Given the description of an element on the screen output the (x, y) to click on. 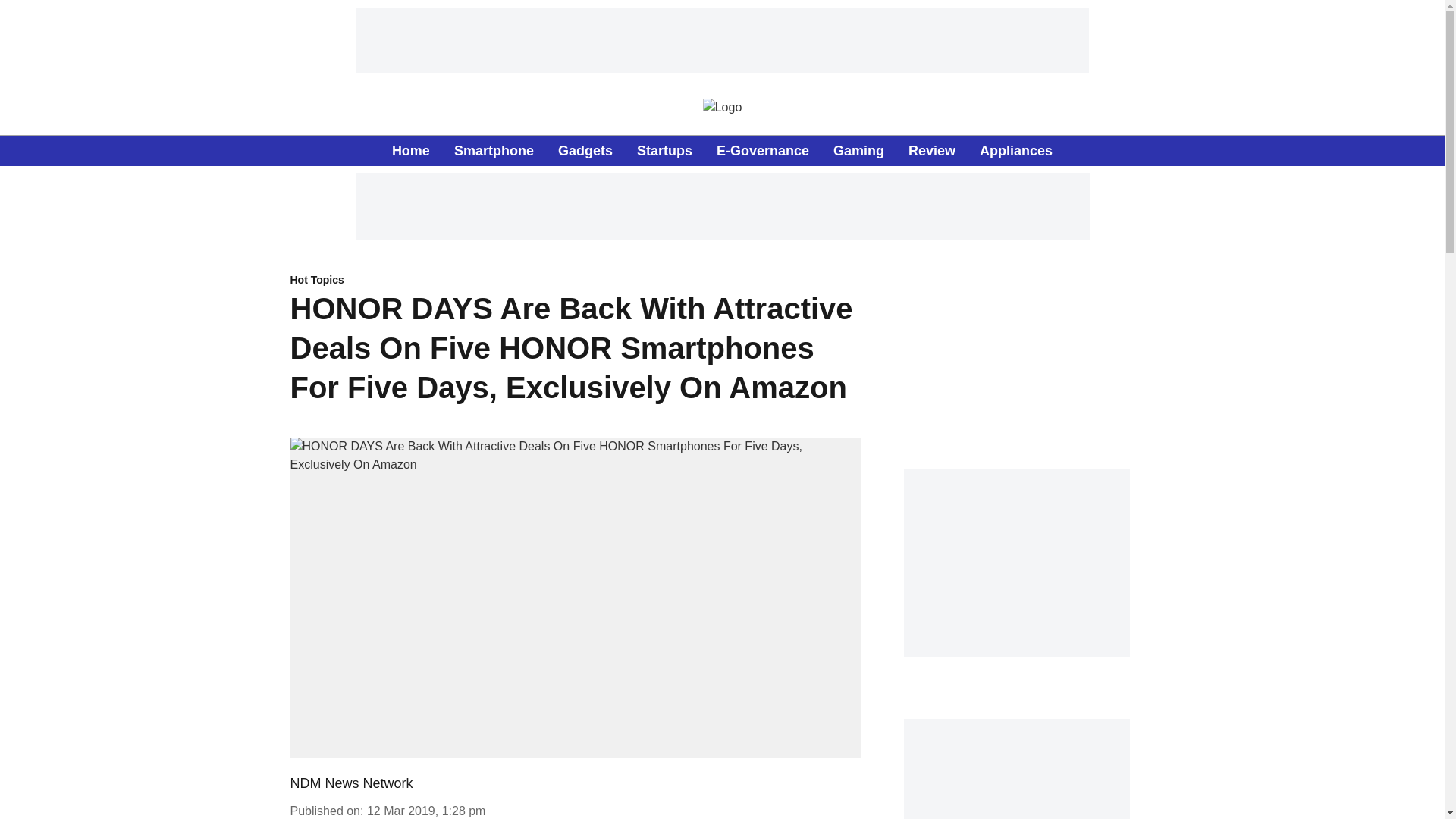
Appliances (1015, 150)
Startups (665, 150)
E-Governance (762, 150)
Home (410, 150)
Gaming (857, 150)
Hot Topics (574, 280)
NDM News Network (350, 783)
Smartphone (494, 150)
Gadgets (584, 150)
